Given the description of an element on the screen output the (x, y) to click on. 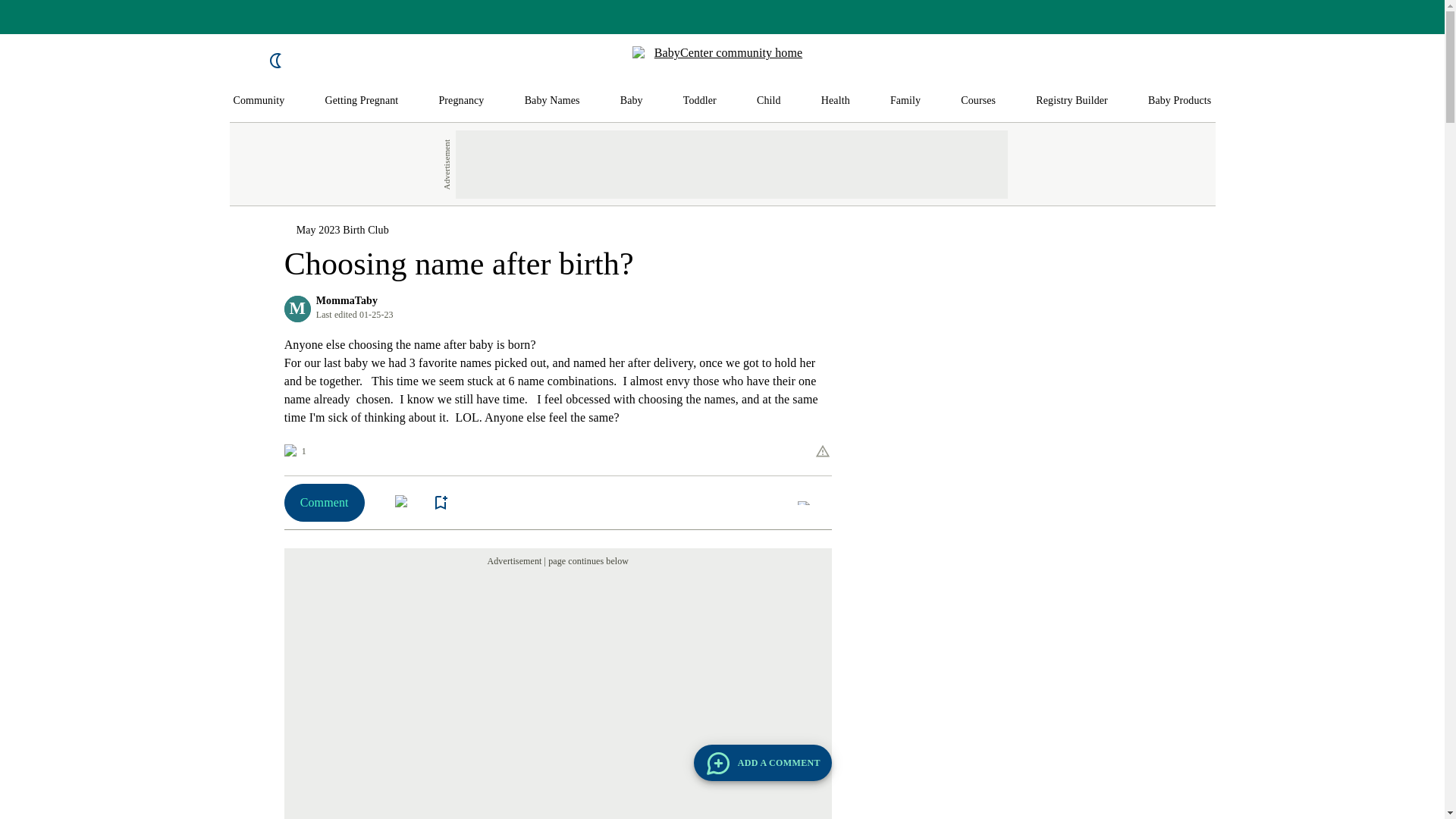
Courses (977, 101)
Community (258, 101)
Health (835, 101)
Registry Builder (1071, 101)
Baby (631, 101)
Baby Names (551, 101)
Family (904, 101)
Baby Products (1179, 101)
Getting Pregnant (360, 101)
Toddler (699, 101)
